Given the description of an element on the screen output the (x, y) to click on. 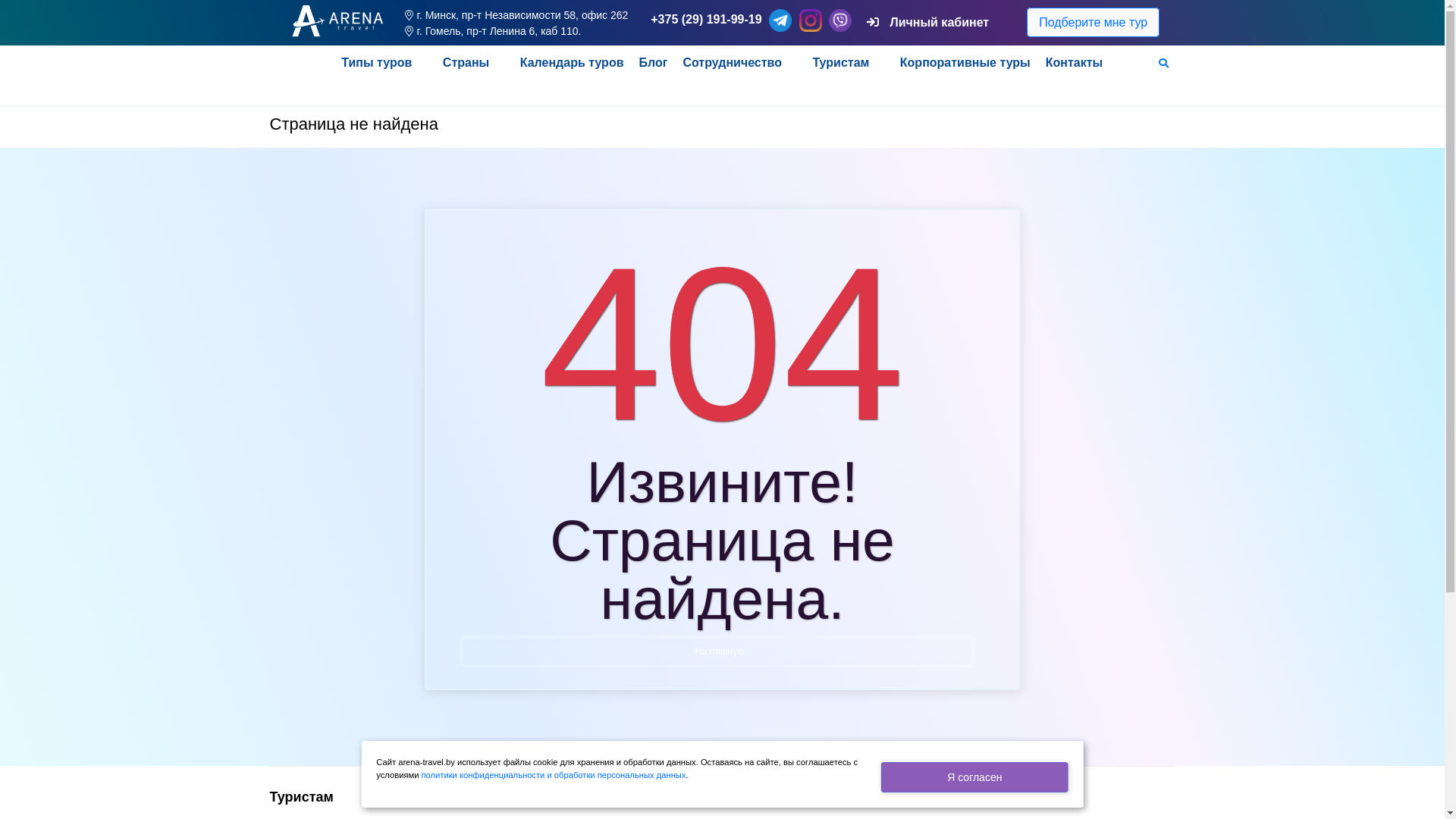
+375 (29) 191-99-19 Element type: text (705, 18)
